Given the description of an element on the screen output the (x, y) to click on. 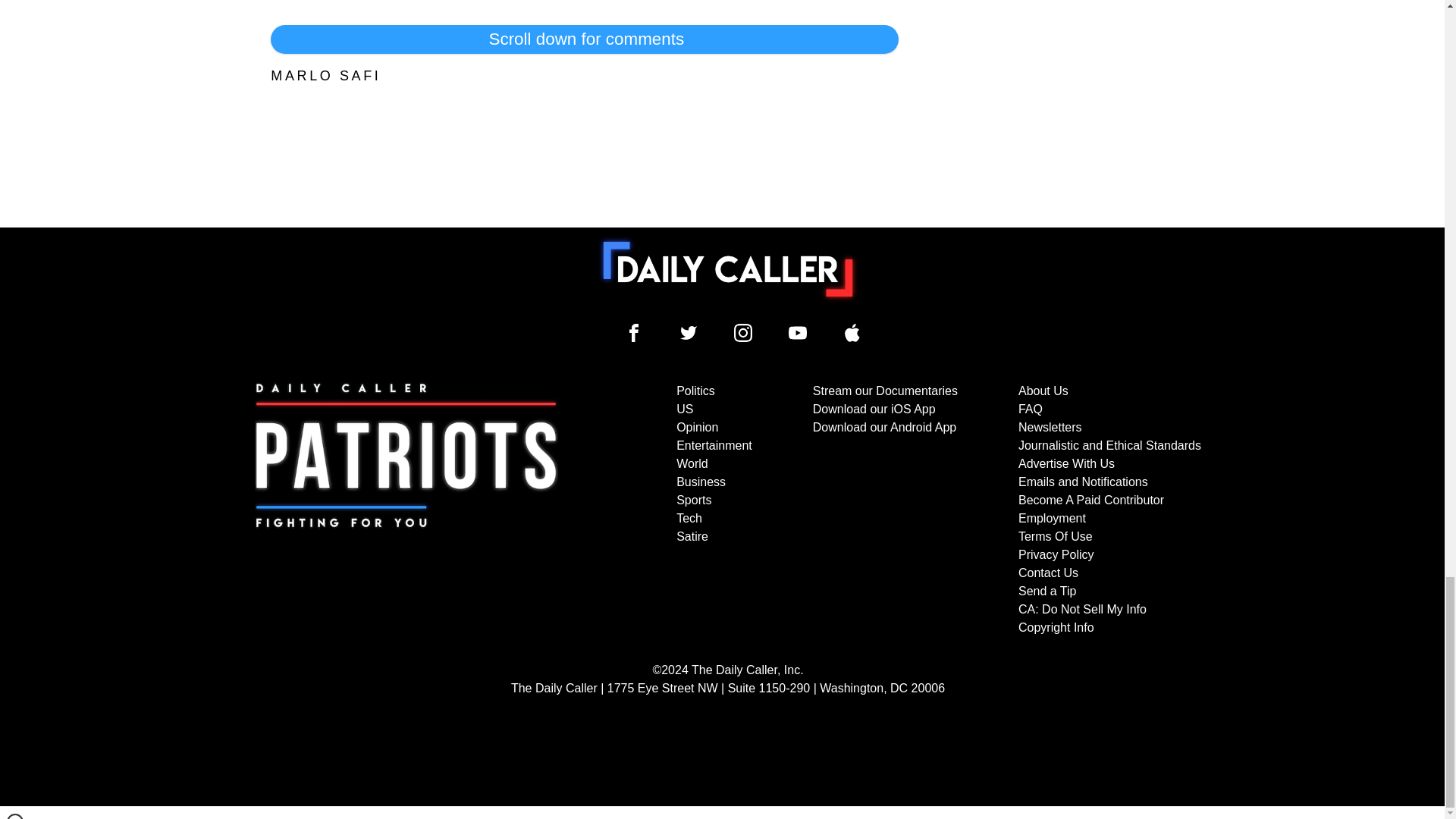
Subscribe to The Daily Caller (405, 509)
Daily Caller Twitter (688, 332)
To home page (727, 268)
Daily Caller YouTube (797, 332)
Daily Caller Instagram (742, 332)
Scroll down for comments (584, 39)
Daily Caller YouTube (852, 332)
Daily Caller Facebook (633, 332)
